Given the description of an element on the screen output the (x, y) to click on. 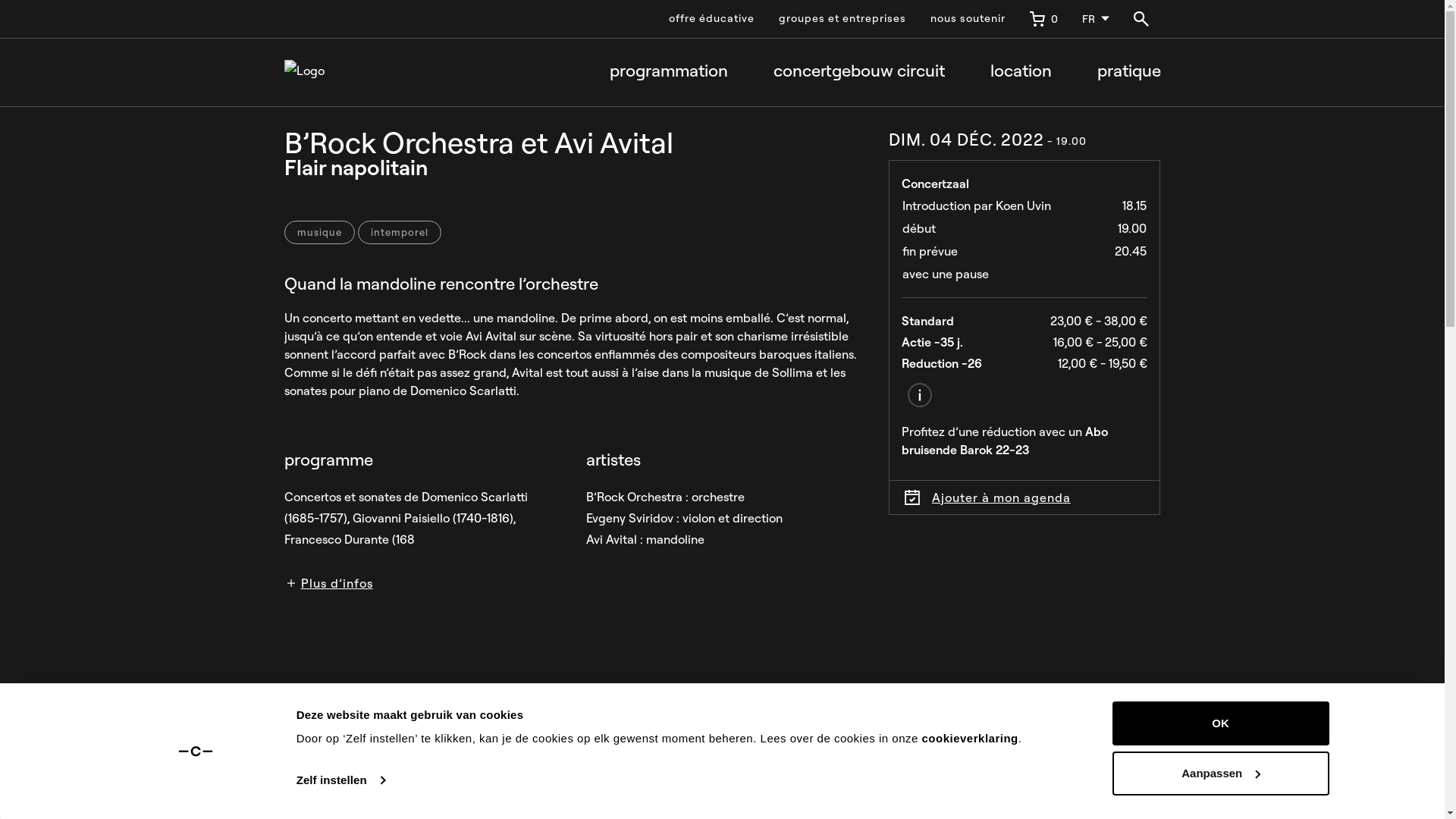
pratique Element type: text (1128, 71)
OK Element type: text (1219, 723)
location Element type: text (1020, 71)
nous soutenir Element type: text (966, 18)
concertgebouw circuit Element type: text (858, 71)
Aanpassen Element type: text (1219, 772)
Zelf instellen Element type: text (340, 779)
groupes et entreprises Element type: text (841, 18)
programmation Element type: text (668, 71)
cookieverklaring Element type: text (970, 737)
FR Element type: text (1094, 18)
Aller au contenu principal Element type: text (73, 14)
0 Element type: text (1043, 18)
